Given the description of an element on the screen output the (x, y) to click on. 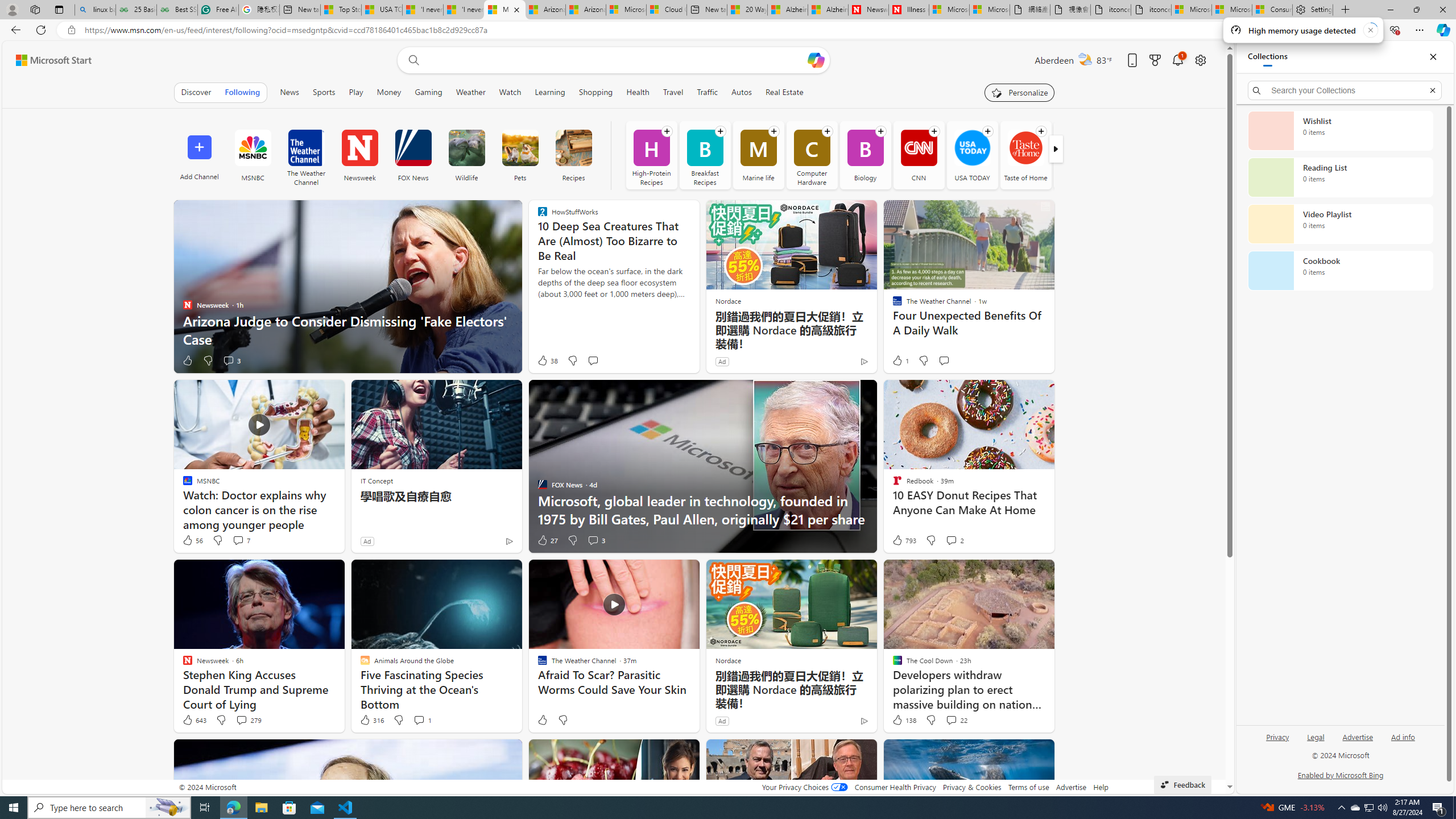
View comments 3 Comment (596, 539)
Newsweek (359, 147)
Sports (323, 92)
Learning (549, 92)
High memory usage detected (1302, 30)
Traffic (707, 92)
Newsweek (359, 155)
25 Basic Linux Commands For Beginners - GeeksforGeeks (135, 9)
643 Like (193, 719)
